Given the description of an element on the screen output the (x, y) to click on. 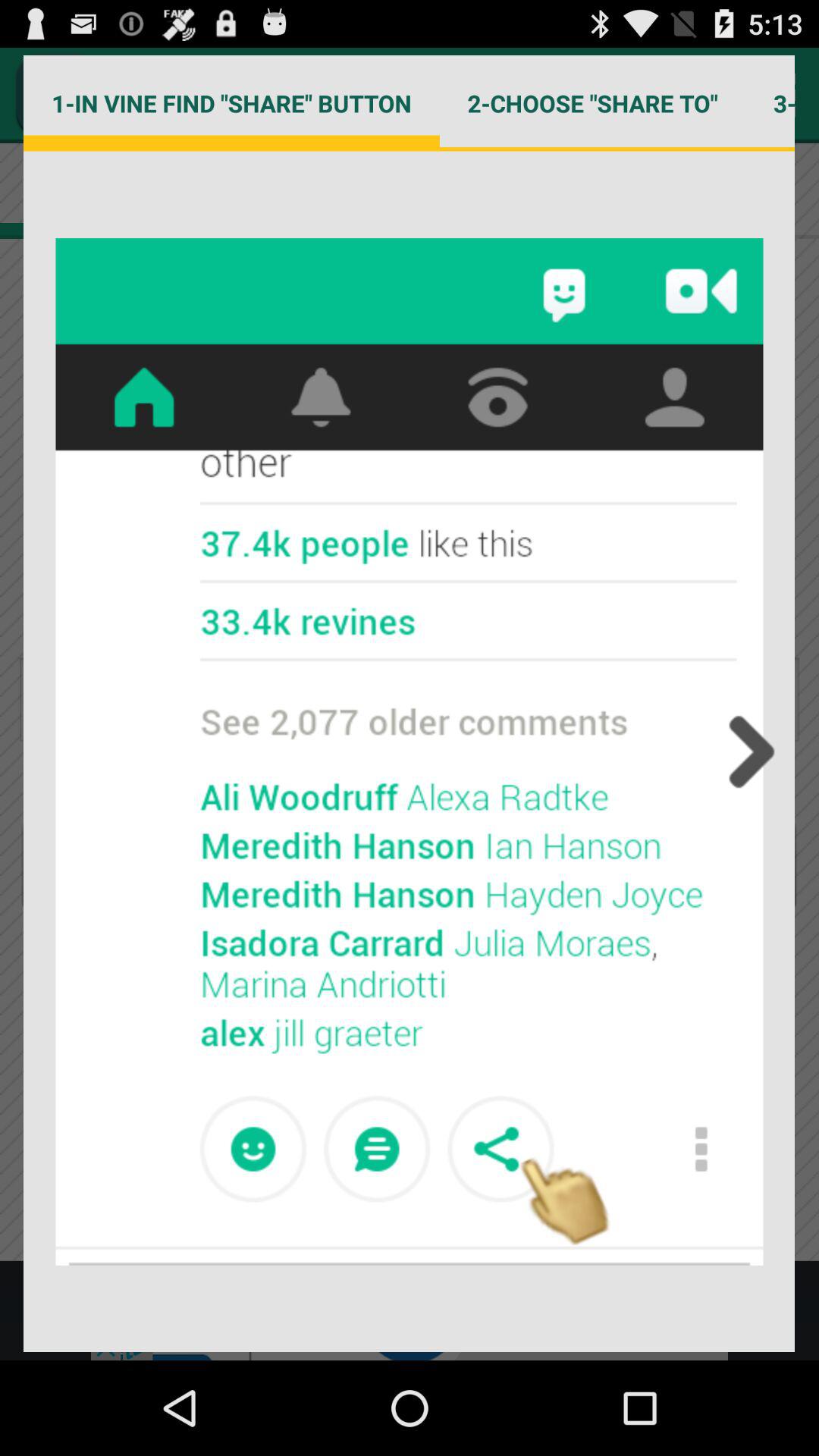
select the item to the right of 1 in vine item (592, 103)
